Given the description of an element on the screen output the (x, y) to click on. 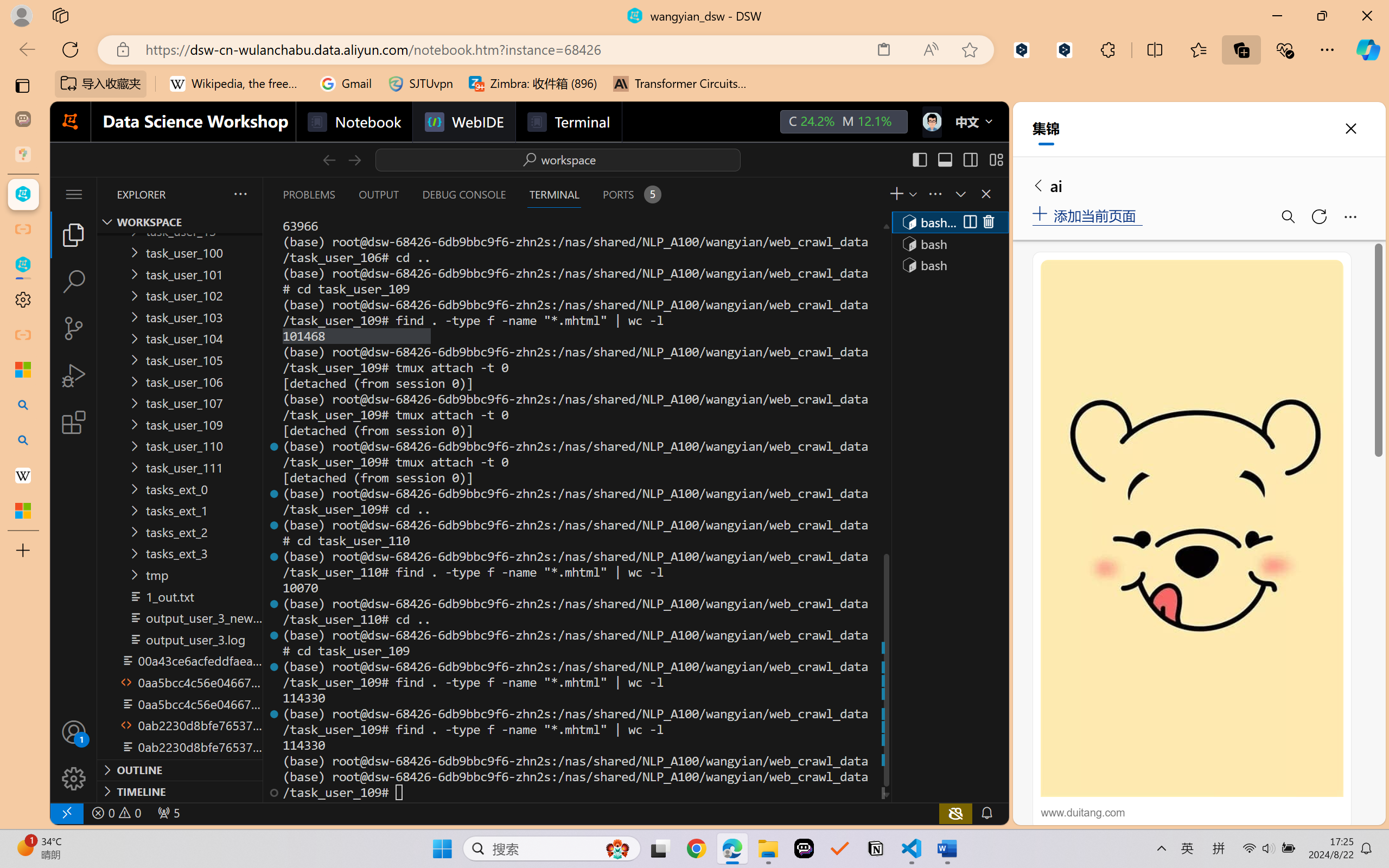
Toggle Secondary Side Bar (Ctrl+Alt+B) (969, 159)
Views and More Actions... (934, 193)
Class: actions-container (978, 221)
Microsoft security help and learning (22, 369)
Problems (Ctrl+Shift+M) (308, 194)
Go Forward (Alt+RightArrow) (354, 159)
SJTUvpn (419, 83)
Class: xterm-link-layer (574, 508)
Wikipedia, the free encyclopedia (236, 83)
Copilot (Ctrl+Shift+.) (1368, 49)
